Given the description of an element on the screen output the (x, y) to click on. 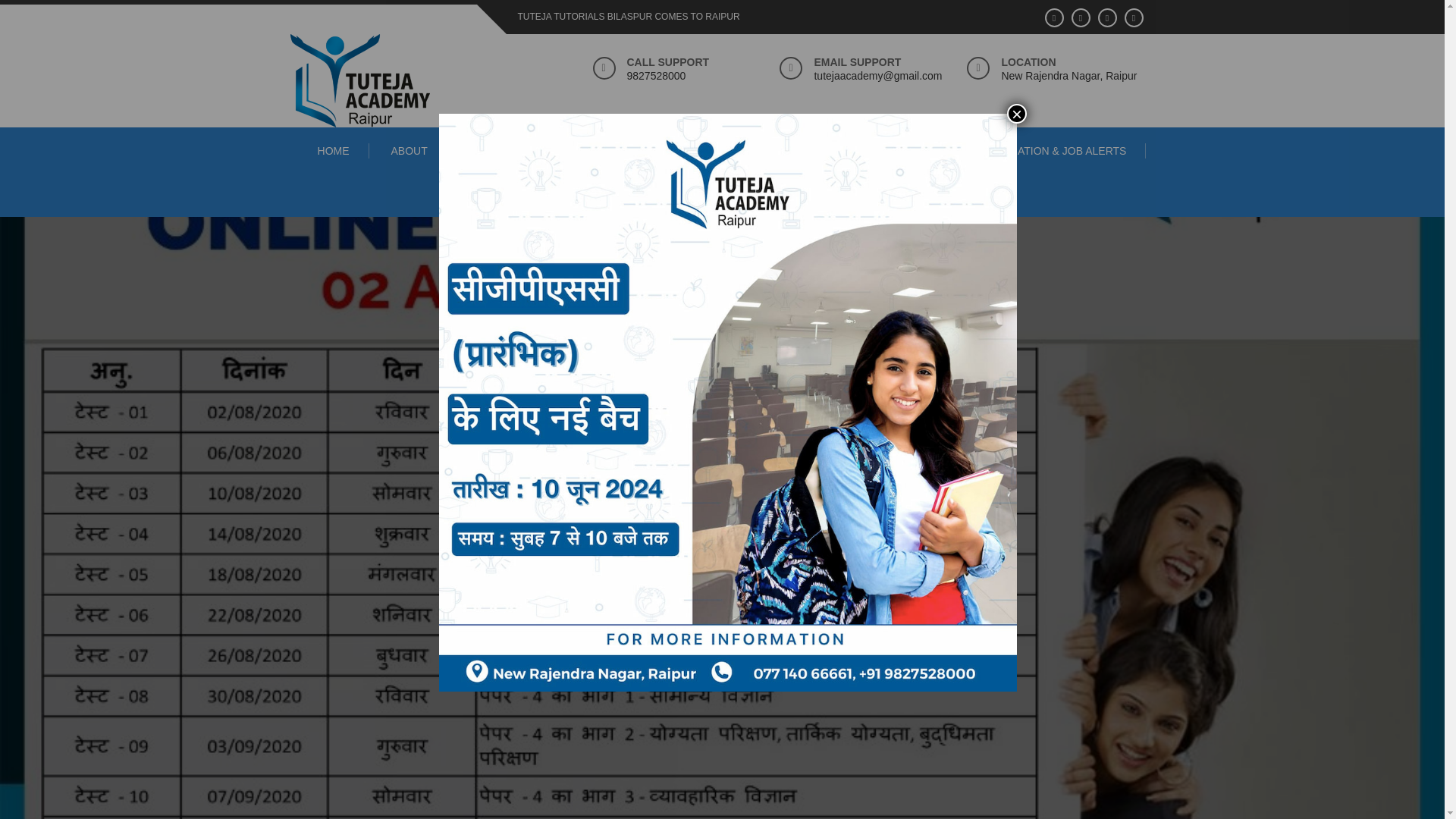
CONTACT US (825, 150)
ADMISSION (721, 195)
LOGIN (916, 150)
OUR BRANCHES (515, 150)
MEDIA (624, 150)
HOME (333, 150)
DOWNLOAD (718, 150)
ABOUT (408, 150)
